Given the description of an element on the screen output the (x, y) to click on. 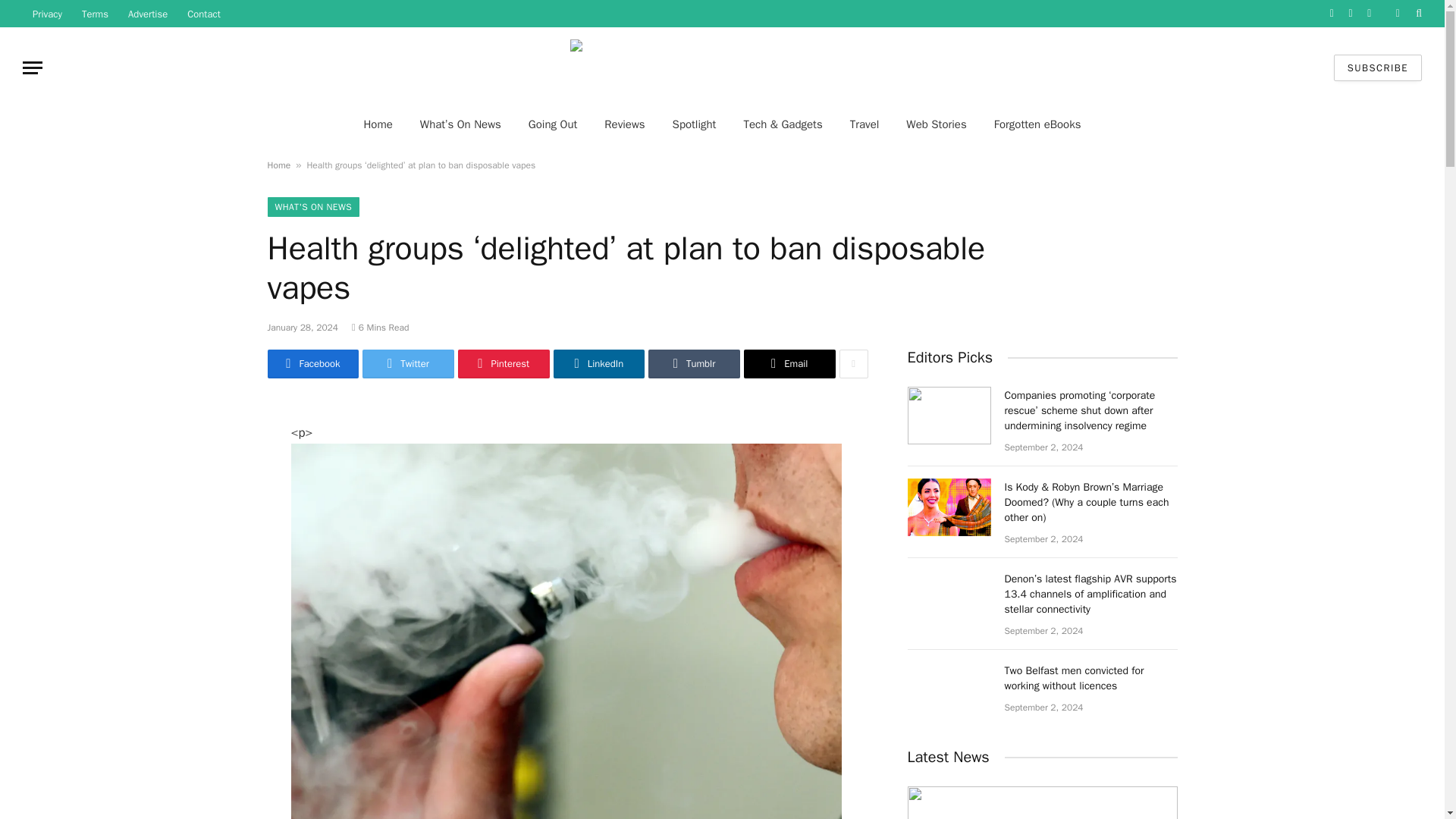
Terms (94, 13)
Forgotten eBooks (1036, 123)
London Reviews (722, 67)
Share on LinkedIn (599, 363)
Switch to Dark Design - easier on eyes. (1397, 13)
Advertise (147, 13)
Reviews (624, 123)
Share on Tumblr (693, 363)
Share on Facebook (312, 363)
Privacy (47, 13)
